Given the description of an element on the screen output the (x, y) to click on. 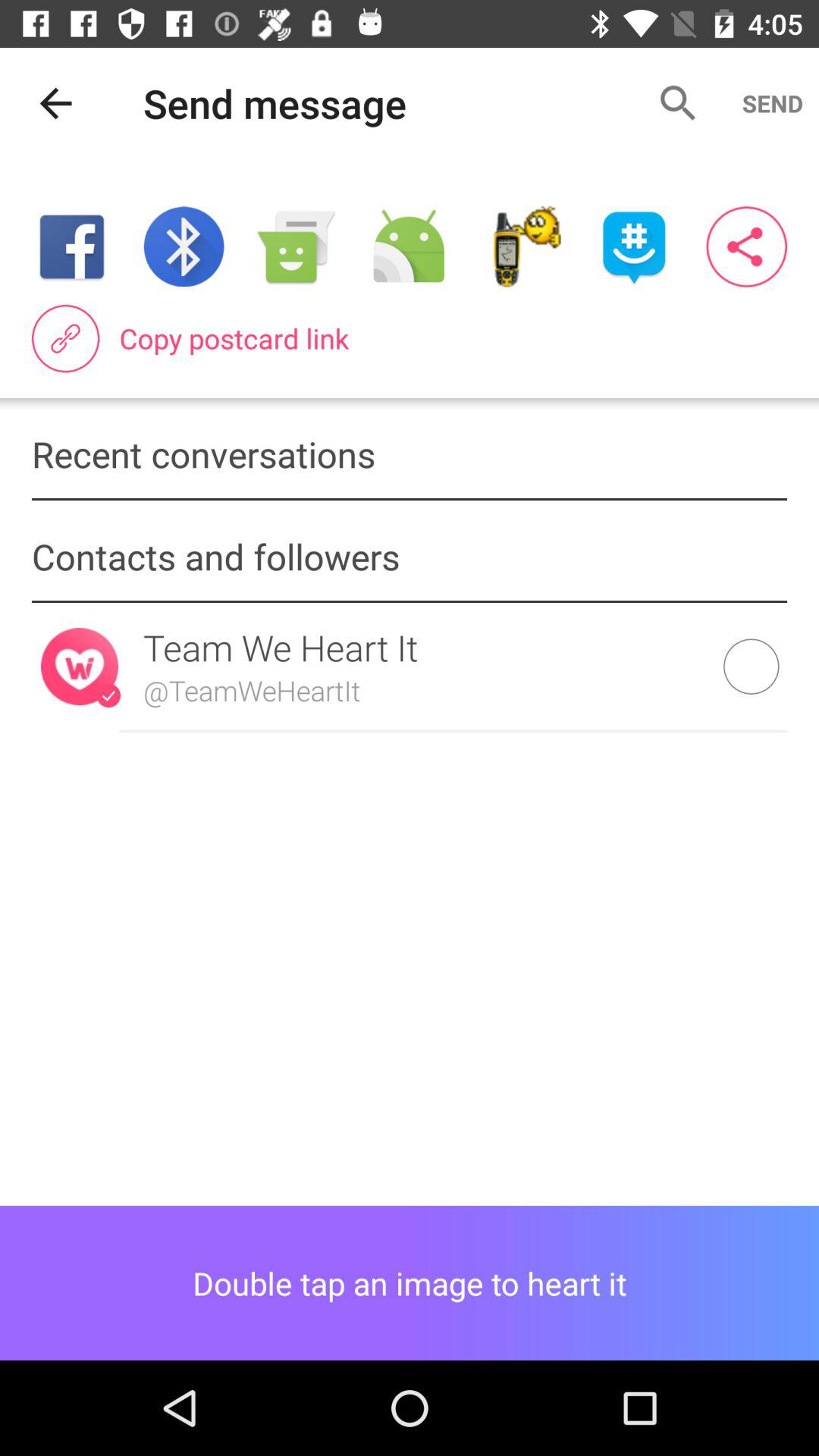
more share options (746, 246)
